Given the description of an element on the screen output the (x, y) to click on. 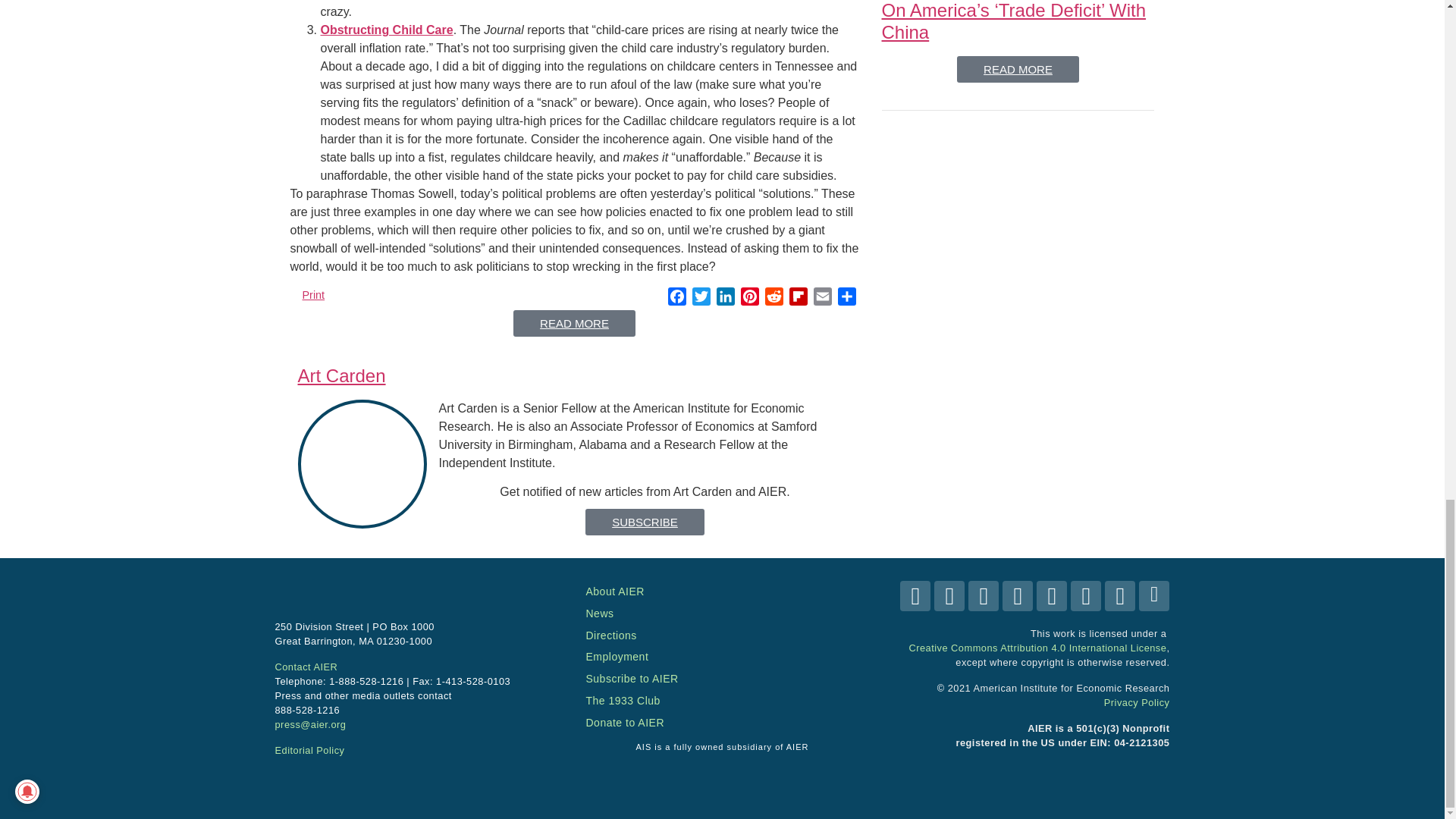
Pinterest (748, 299)
Flipboard (797, 299)
Privacy Policy (1136, 702)
Reddit (773, 299)
Twitter (700, 299)
LinkedIn (724, 299)
Email (821, 299)
Facebook (675, 299)
